Given the description of an element on the screen output the (x, y) to click on. 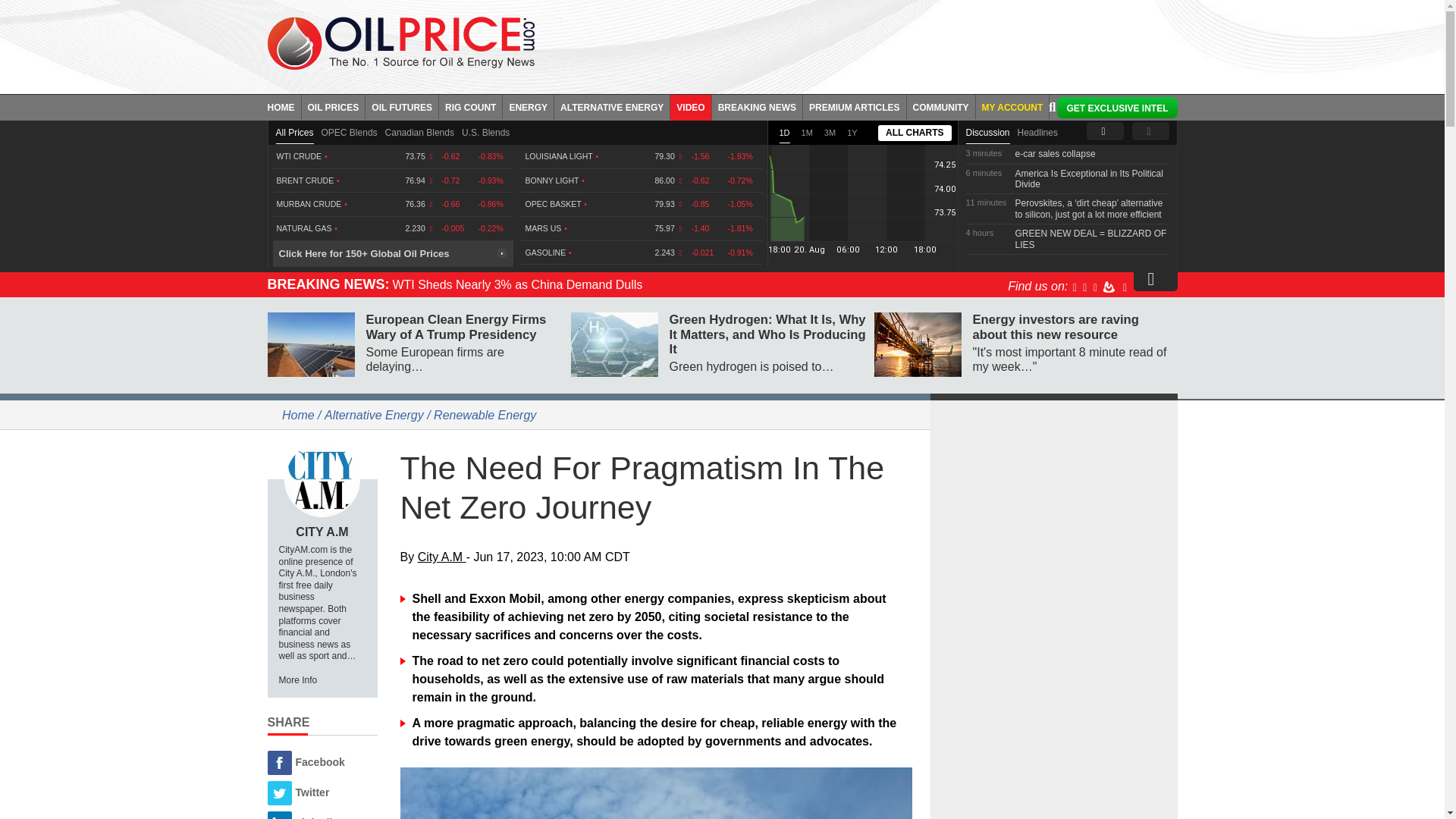
PREMIUM ARTICLES (855, 106)
RIG COUNT (470, 106)
HOME (283, 106)
MY ACCOUNT (1012, 106)
OIL PRICES (333, 106)
COMMUNITY (941, 106)
ENERGY (528, 106)
ALTERNATIVE ENERGY (611, 106)
OIL FUTURES (402, 106)
